Given the description of an element on the screen output the (x, y) to click on. 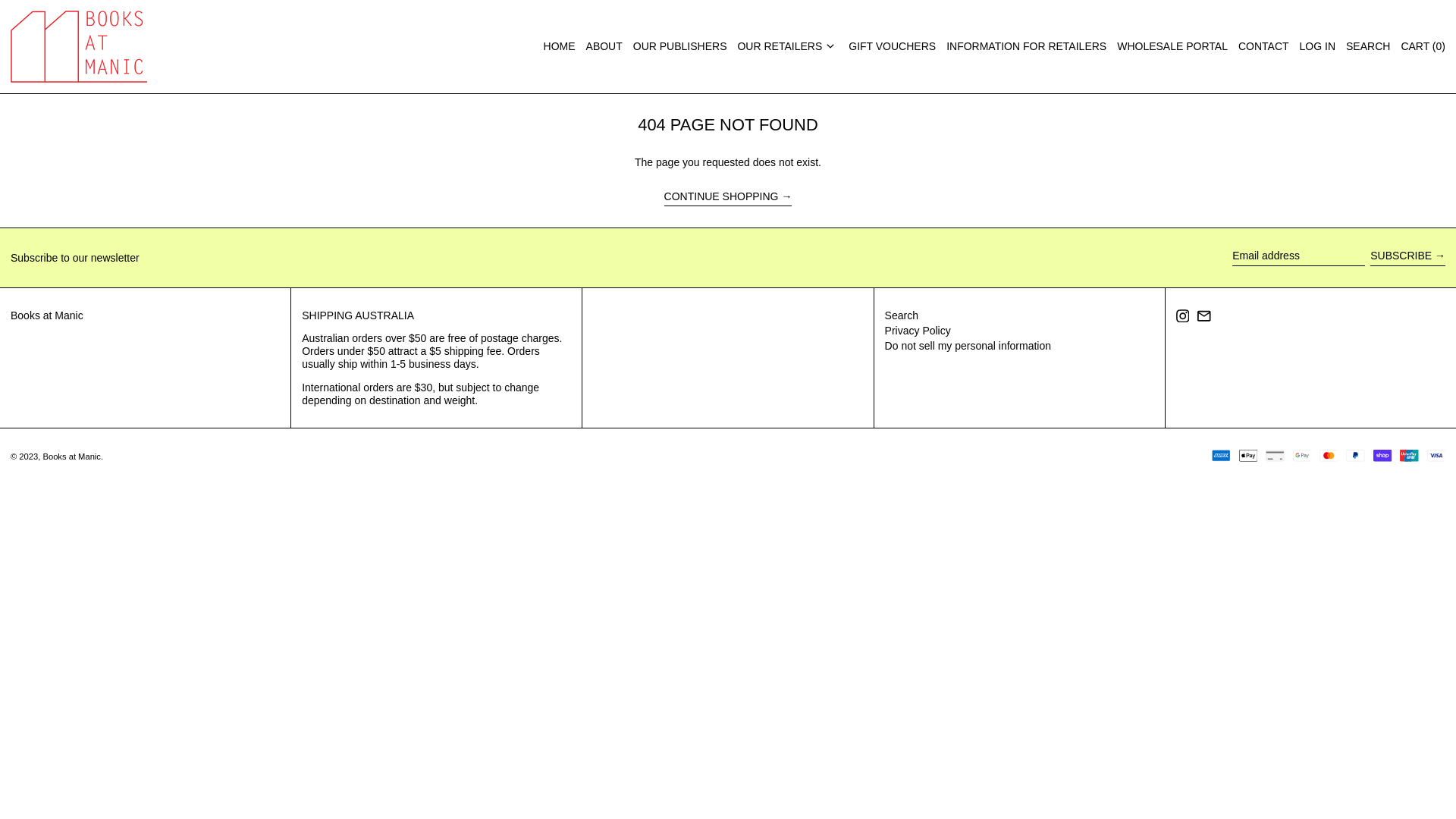
Instagram Element type: text (1182, 318)
Do not sell my personal information Element type: text (967, 345)
LOG IN Element type: text (1317, 46)
CART (0) Element type: text (1422, 46)
Books at Manic Element type: text (46, 315)
Privacy Policy Element type: text (917, 330)
Search Element type: text (901, 315)
CONTACT Element type: text (1263, 46)
HOME Element type: text (559, 46)
SEARCH Element type: text (1368, 46)
Email Element type: text (1204, 318)
ABOUT Element type: text (604, 46)
OUR PUBLISHERS Element type: text (680, 46)
OUR RETAILERS Element type: text (787, 46)
INFORMATION FOR RETAILERS Element type: text (1026, 46)
Books at Manic Element type: text (71, 456)
GIFT VOUCHERS Element type: text (891, 46)
WHOLESALE PORTAL Element type: text (1172, 46)
